Given the description of an element on the screen output the (x, y) to click on. 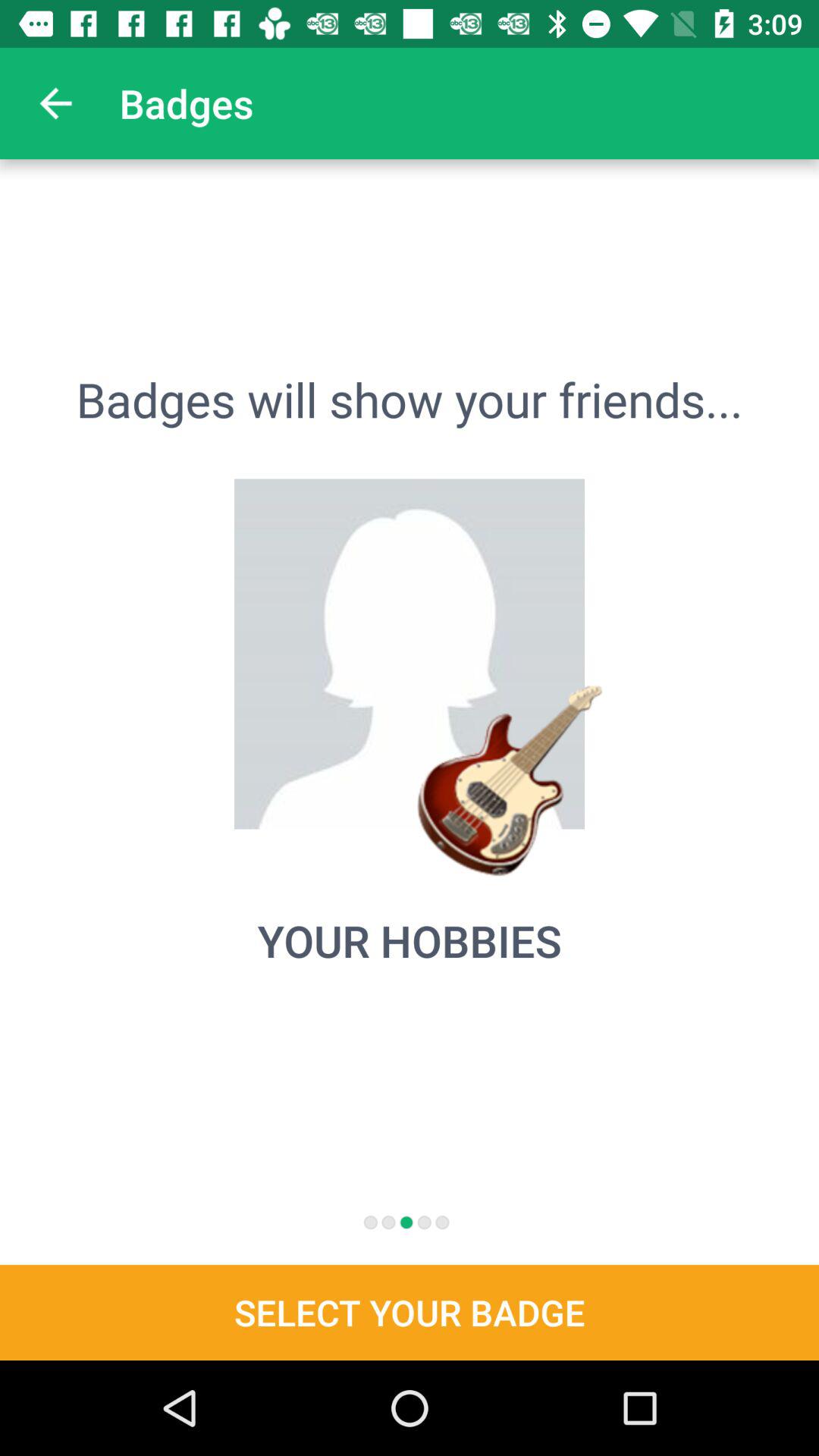
swipe to select your badge icon (409, 1312)
